Given the description of an element on the screen output the (x, y) to click on. 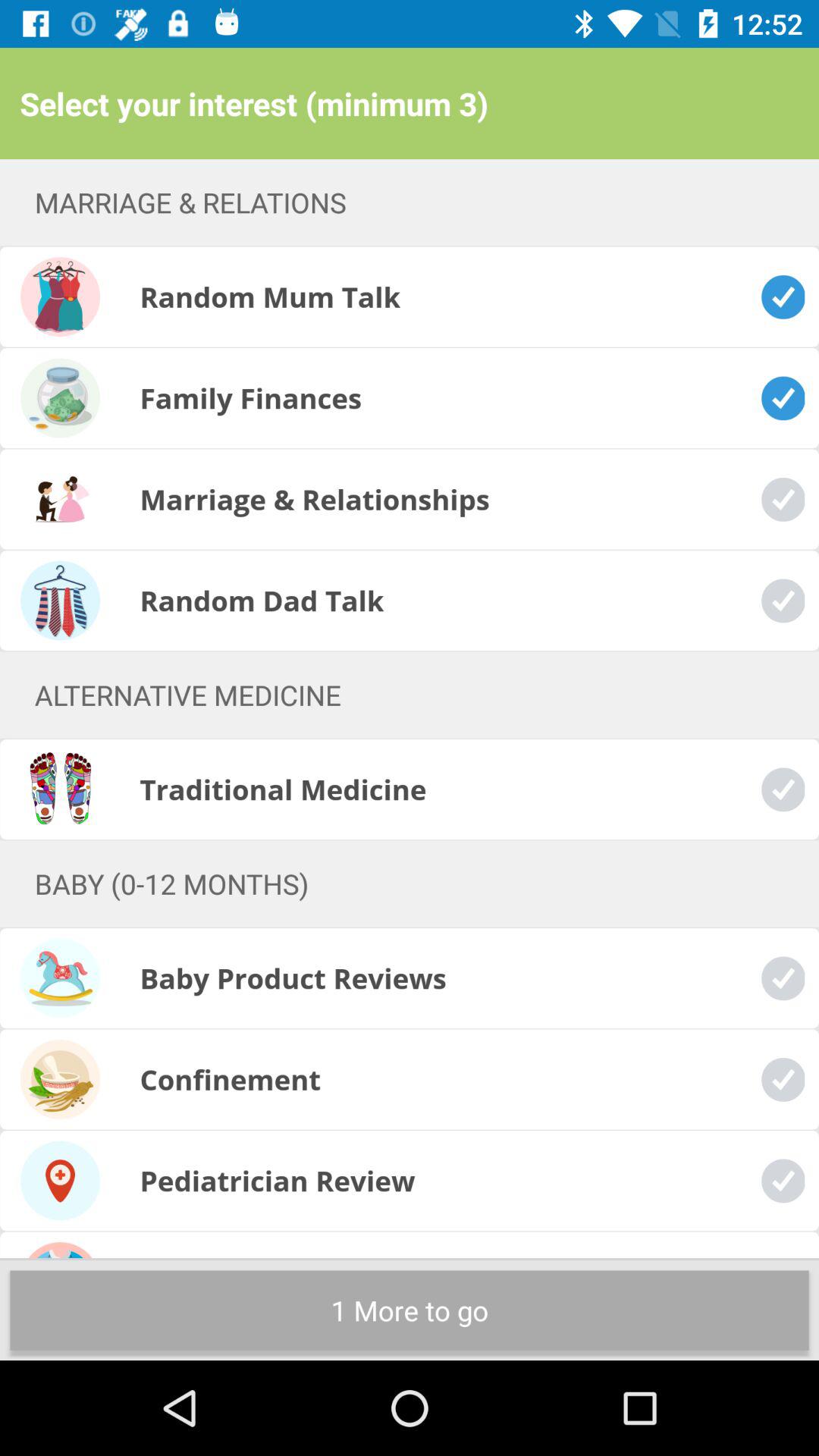
click on the pediatrician review icon (59, 1181)
click on 1 more to go (409, 1311)
select the fourth image (59, 600)
